Given the description of an element on the screen output the (x, y) to click on. 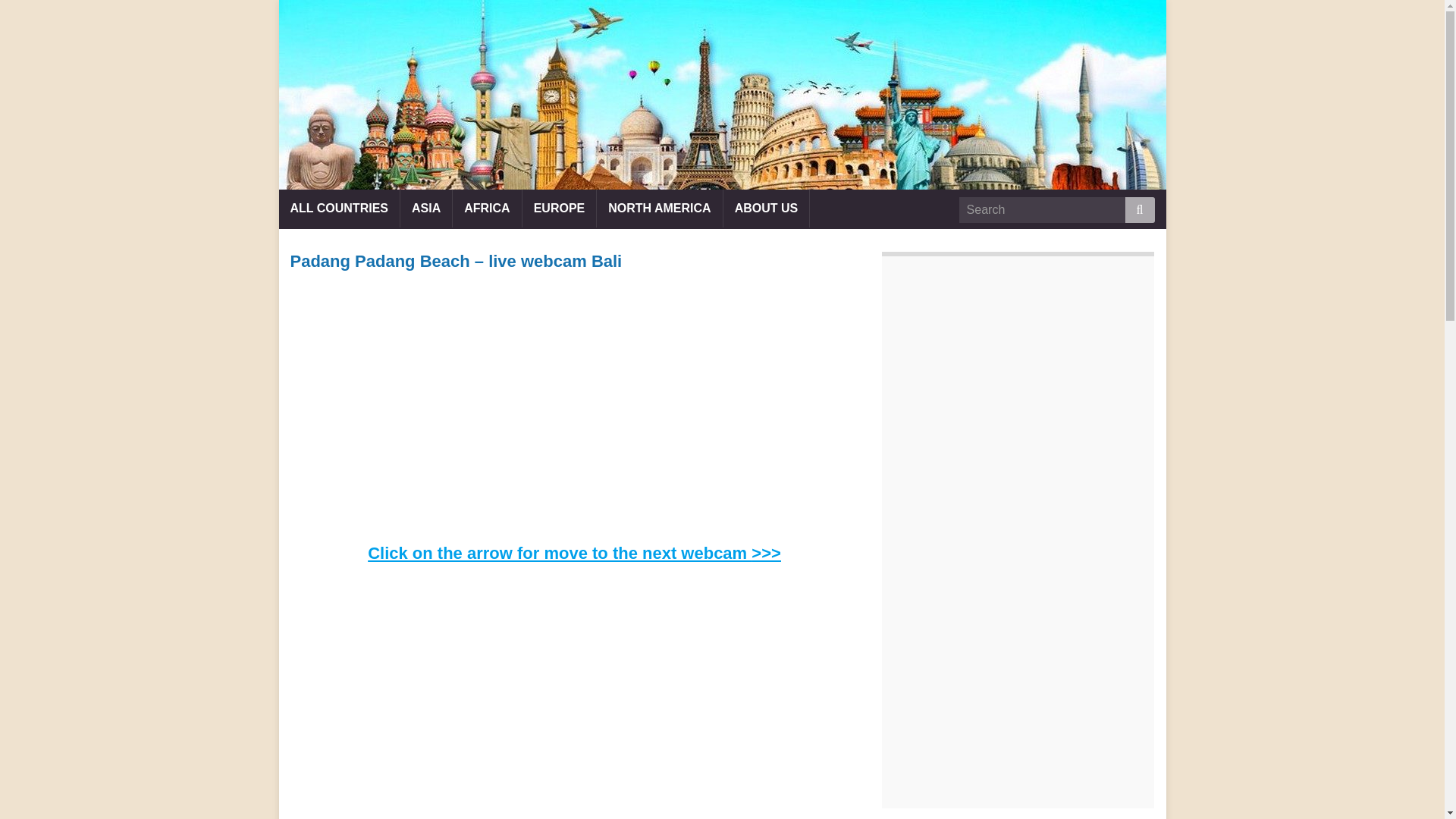
Advertisement (1017, 676)
ABOUT US (766, 208)
Advertisement (573, 413)
Advertisement (1017, 413)
NORTH AMERICA (659, 208)
EUROPE (559, 208)
ASIA (425, 208)
ALL COUNTRIES (338, 208)
